Given the description of an element on the screen output the (x, y) to click on. 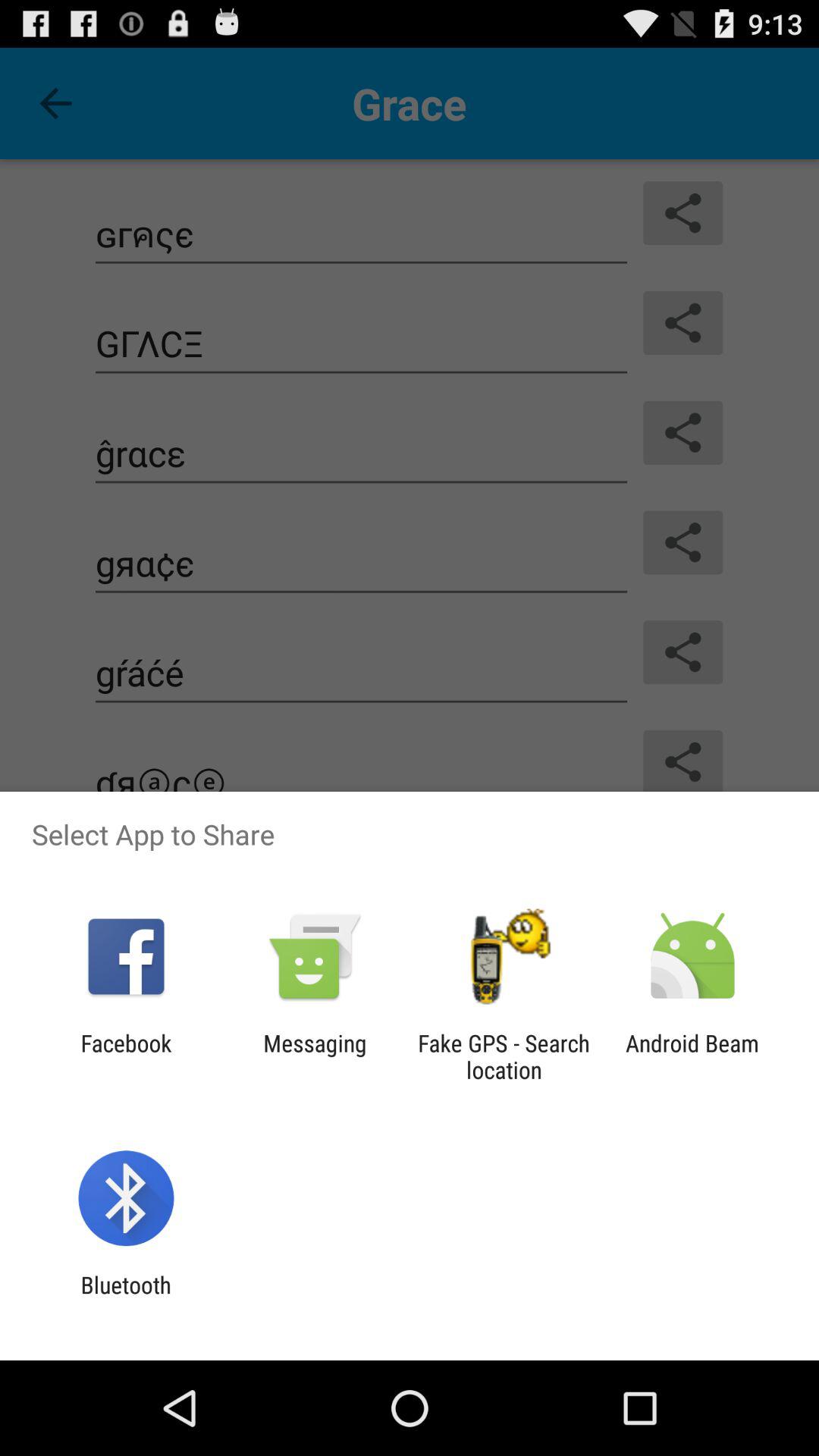
turn on the android beam app (692, 1056)
